Given the description of an element on the screen output the (x, y) to click on. 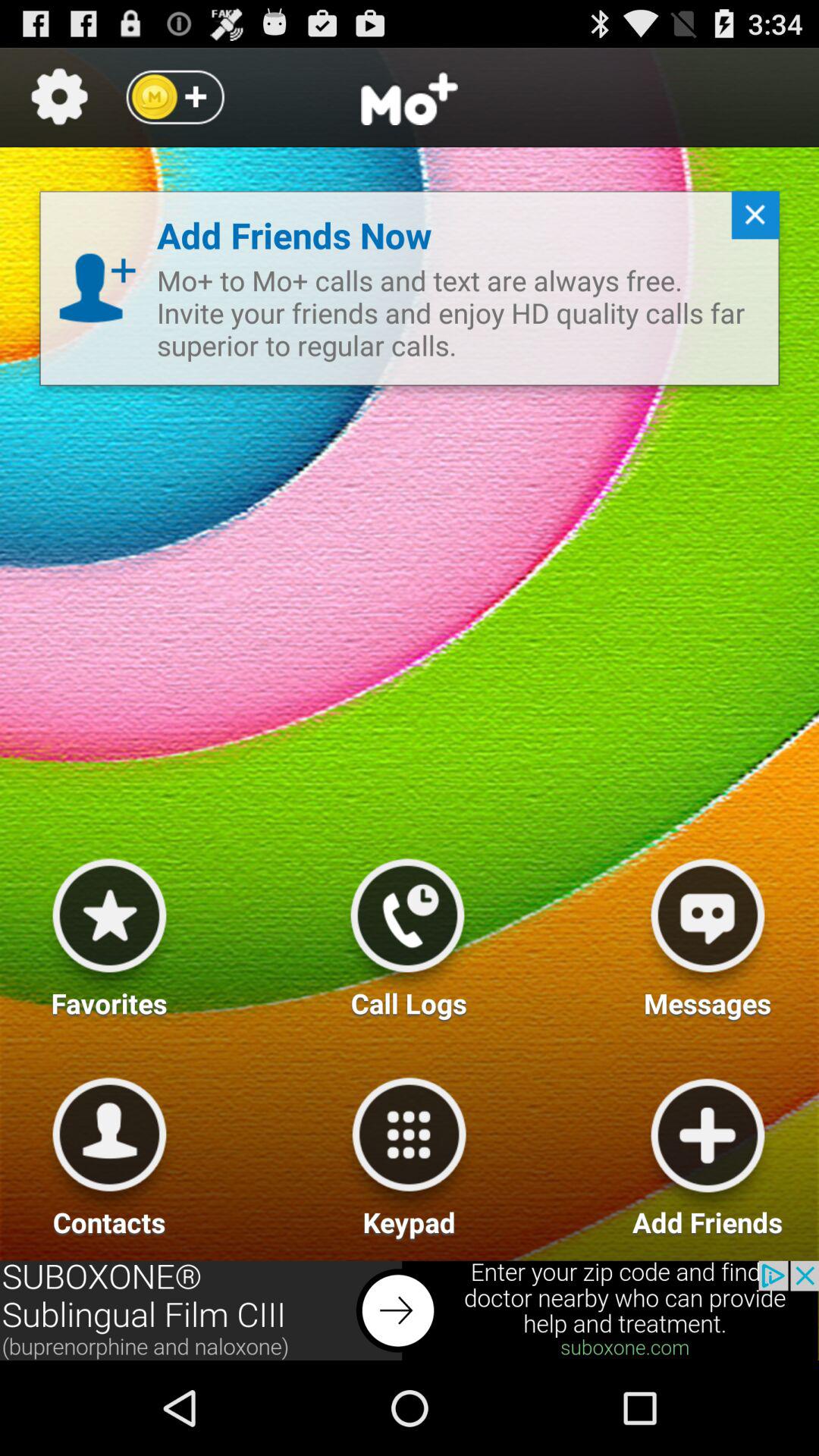
messages (707, 932)
